Given the description of an element on the screen output the (x, y) to click on. 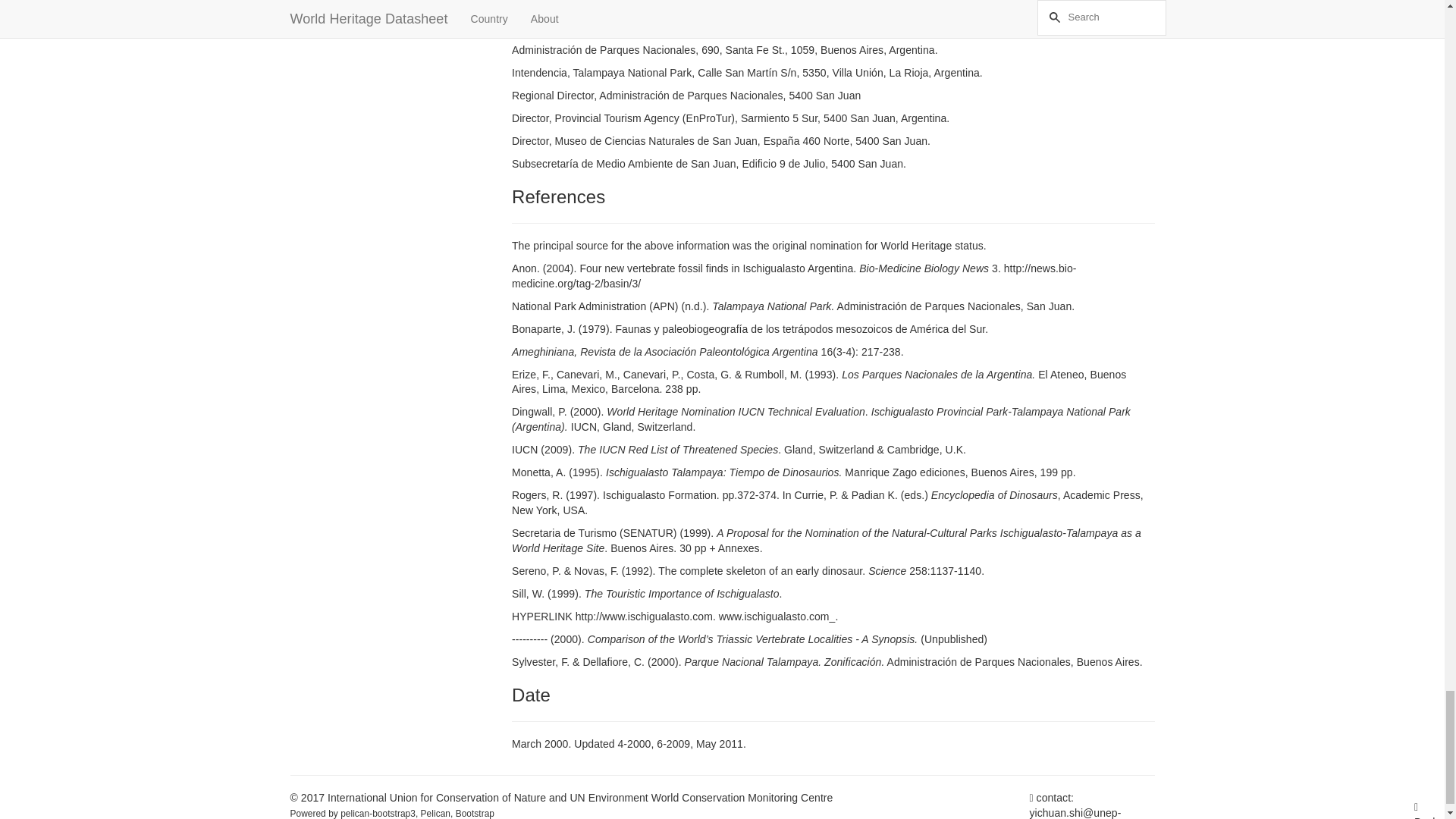
Pelican (434, 813)
Bootstrap (475, 813)
pelican-bootstrap3 (377, 813)
